Given the description of an element on the screen output the (x, y) to click on. 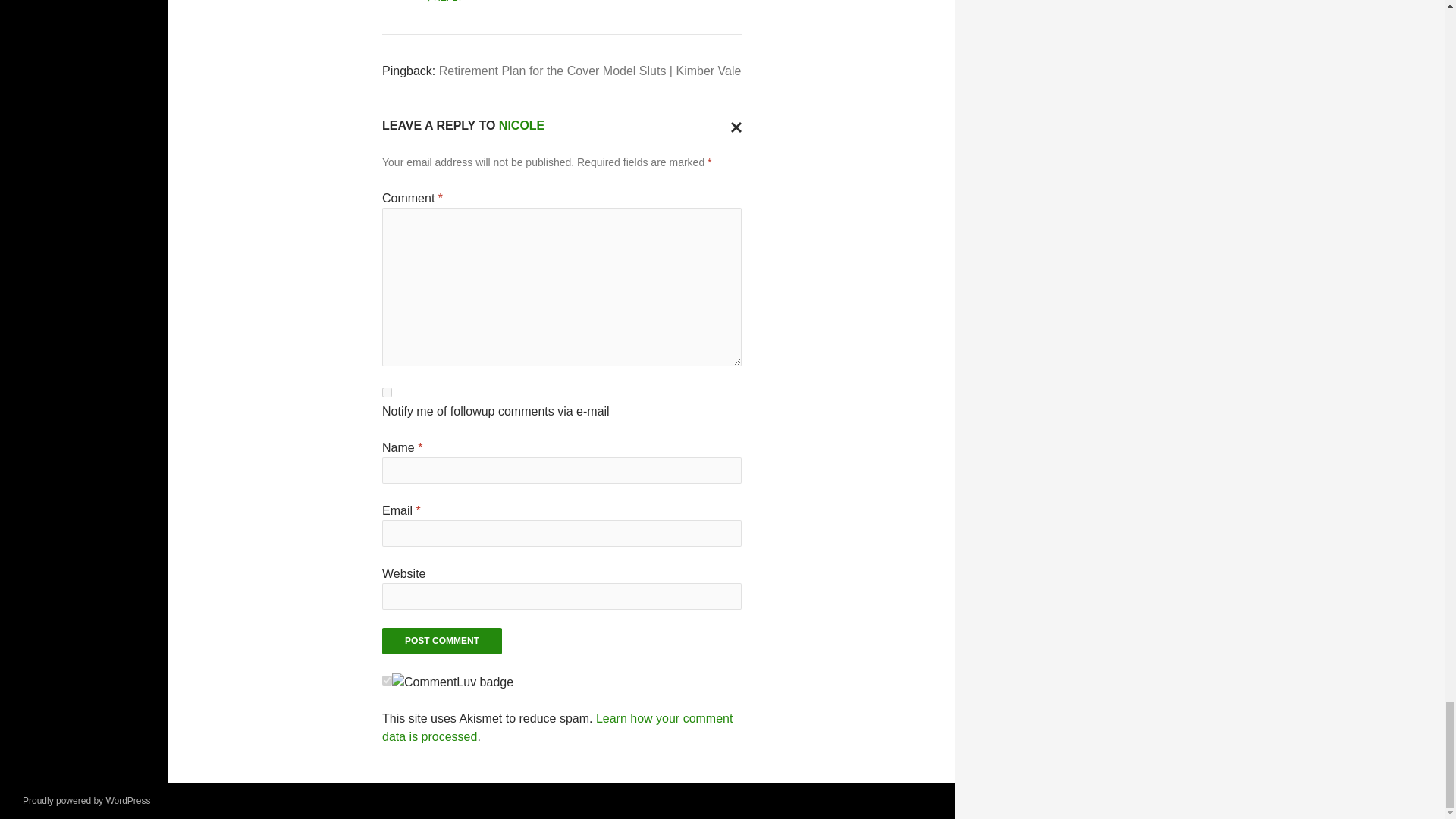
subscribe (386, 392)
Post Comment (441, 641)
on (386, 680)
